Given the description of an element on the screen output the (x, y) to click on. 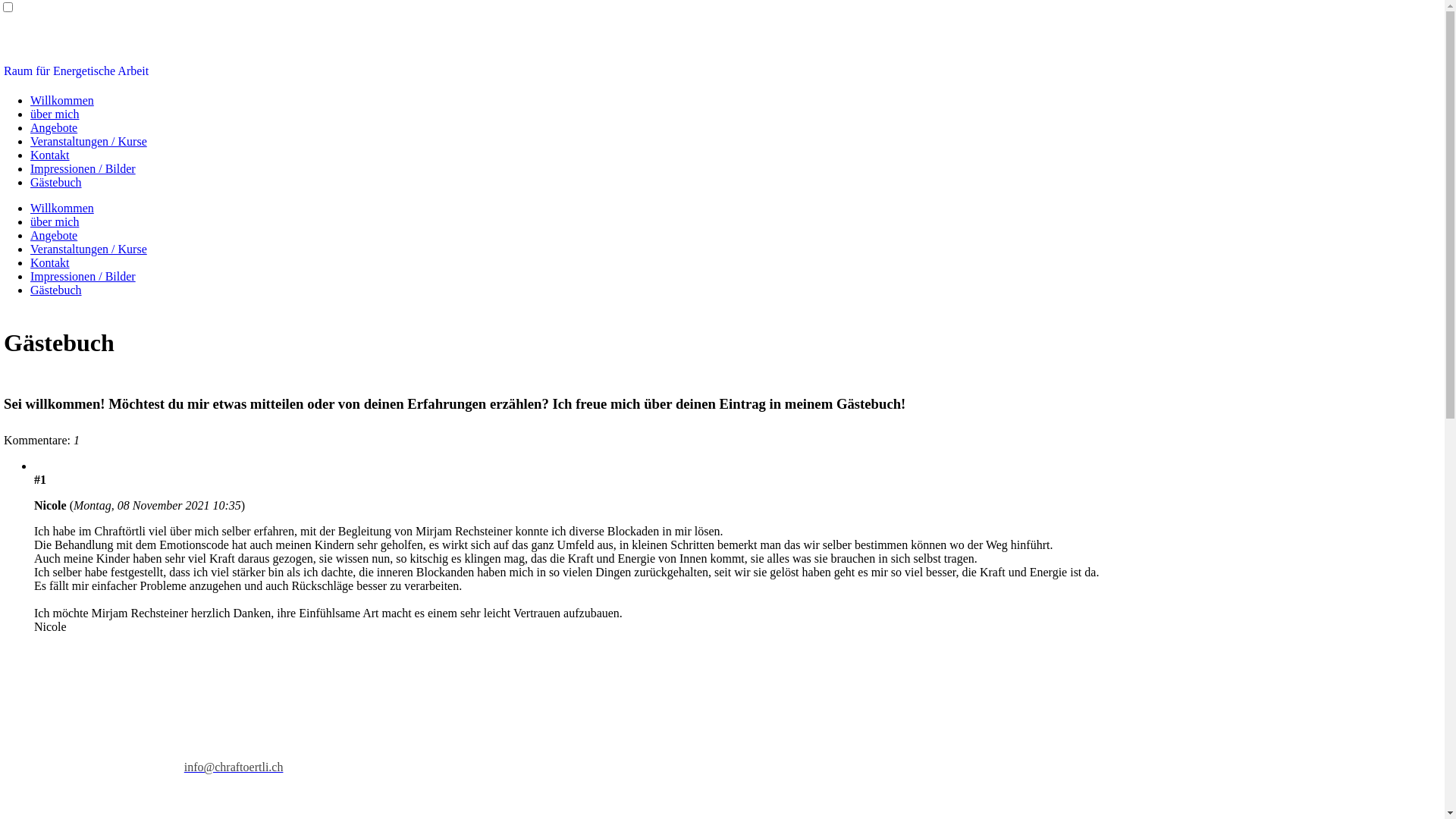
Veranstaltungen / Kurse Element type: text (88, 248)
Angebote Element type: text (53, 235)
Veranstaltungen / Kurse Element type: text (88, 140)
Angebote Element type: text (53, 127)
Kontakt Element type: text (49, 154)
Willkommen Element type: text (62, 207)
Willkommen Element type: text (62, 100)
Kontakt Element type: text (49, 262)
info@chraftoertli.ch Element type: text (233, 766)
Impressionen / Bilder Element type: text (82, 168)
Impressionen / Bilder Element type: text (82, 275)
